Given the description of an element on the screen output the (x, y) to click on. 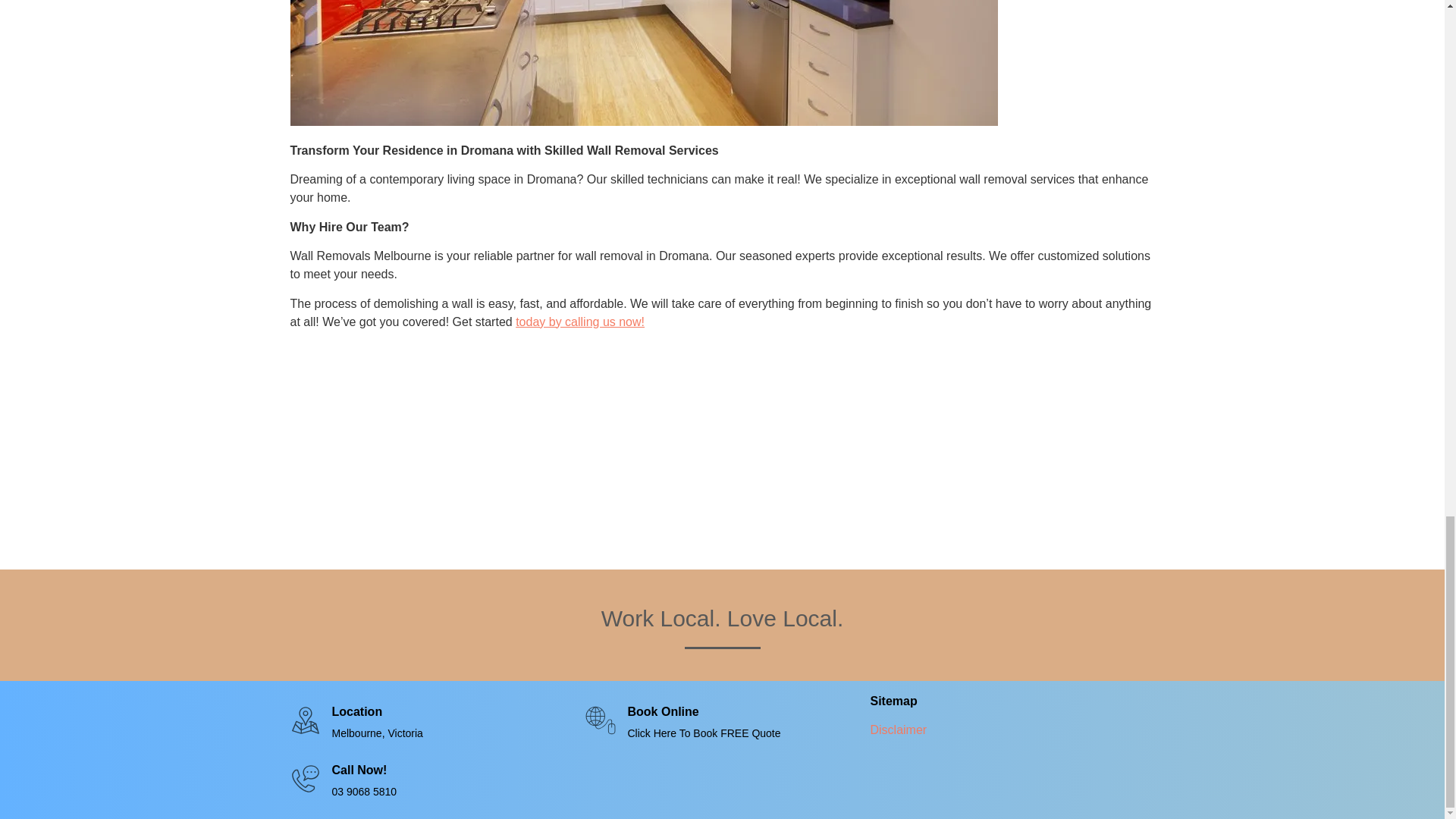
Book Online (662, 711)
today by calling us now! (580, 321)
Disclaimer (897, 729)
Call Now! (359, 769)
